Given the description of an element on the screen output the (x, y) to click on. 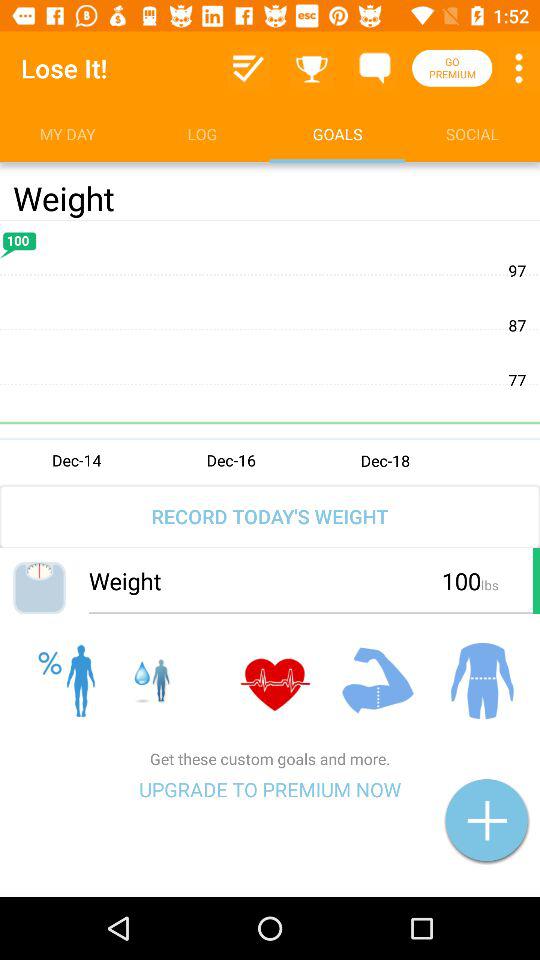
goal reached (311, 67)
